Given the description of an element on the screen output the (x, y) to click on. 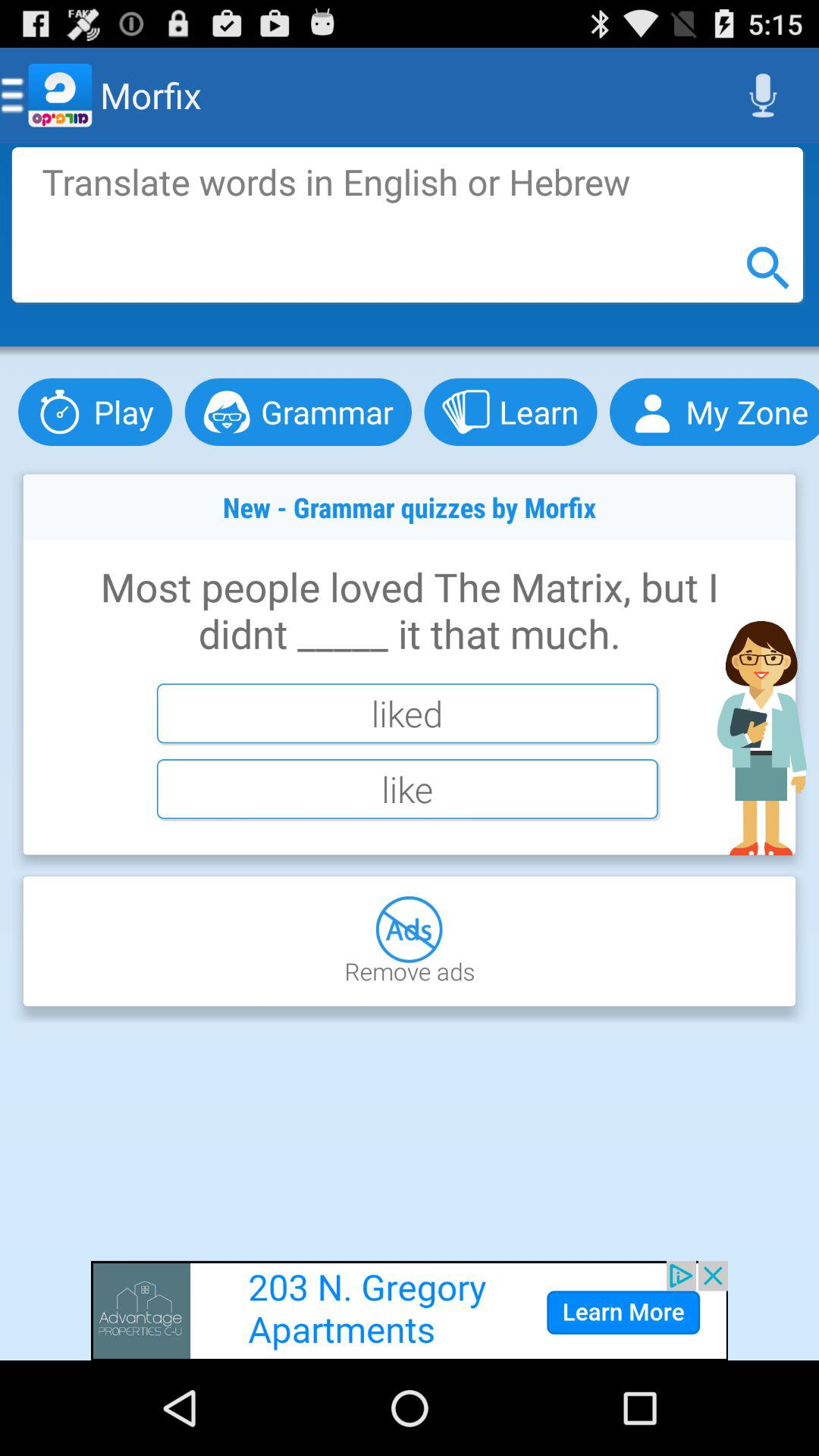
enter text (407, 224)
